Given the description of an element on the screen output the (x, y) to click on. 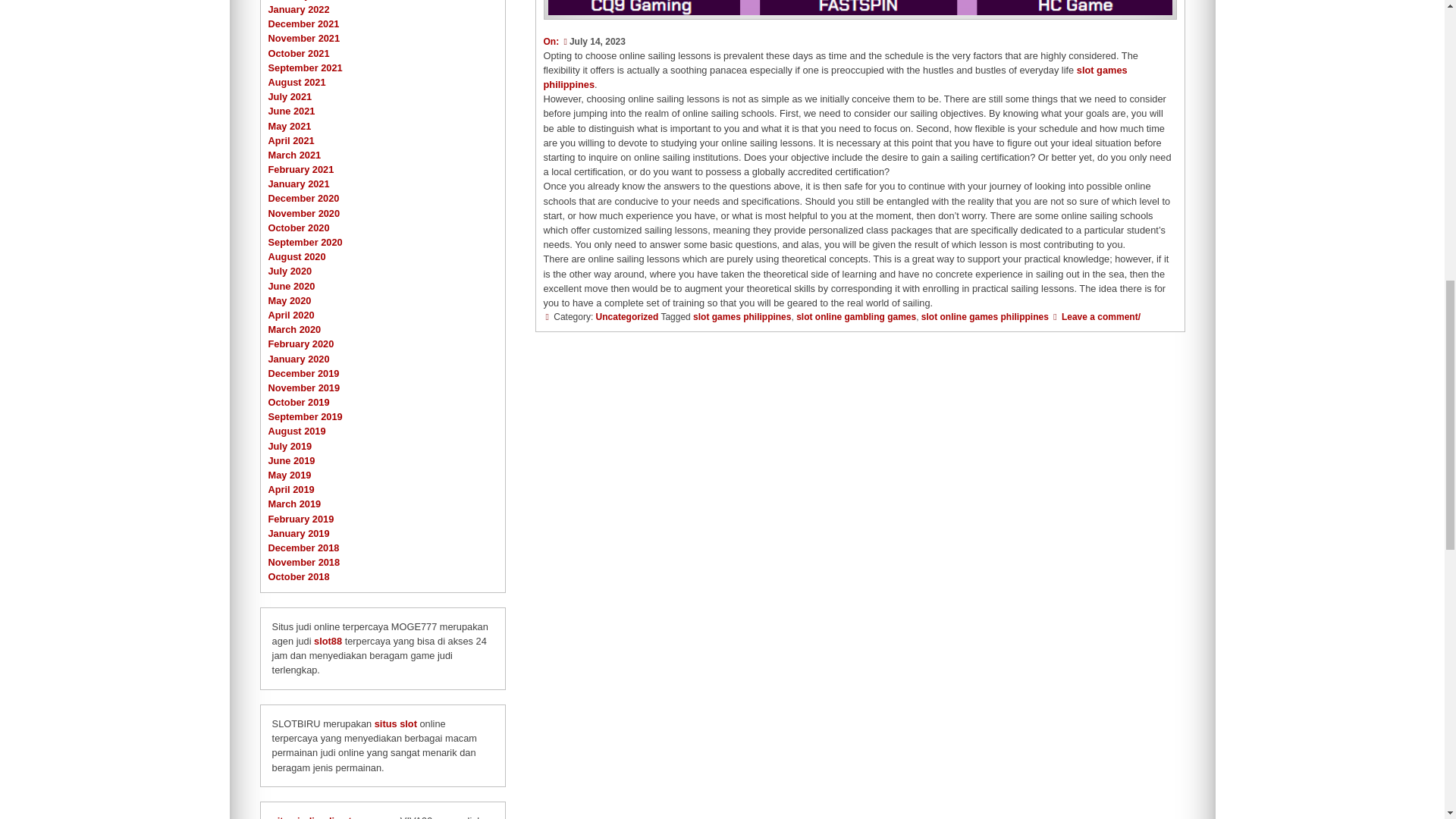
Uncategorized (627, 317)
slot games philippines (741, 317)
slot online games philippines (984, 317)
July 14, 2023 (592, 41)
slot online gambling games (855, 317)
slot games philippines (834, 77)
